Given the description of an element on the screen output the (x, y) to click on. 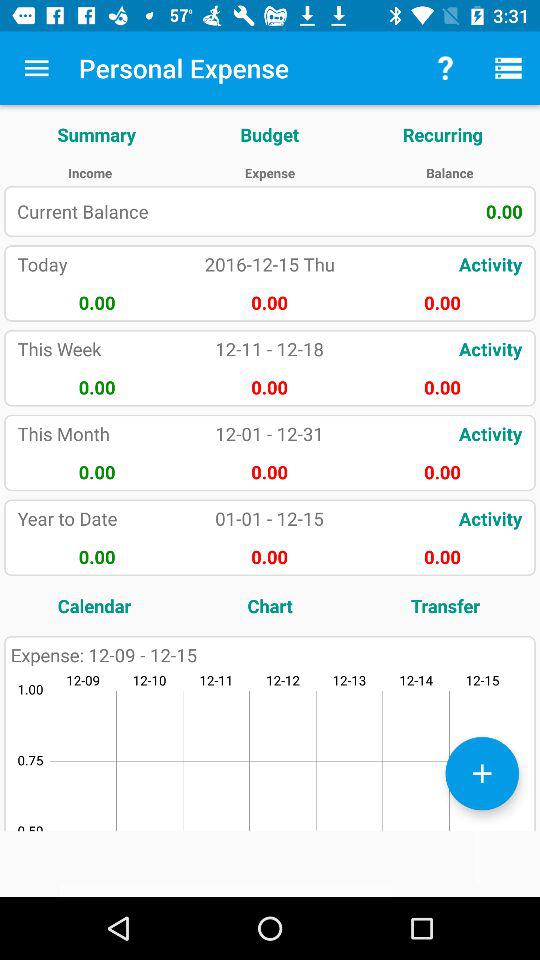
click item to the left of the recurring (269, 134)
